Given the description of an element on the screen output the (x, y) to click on. 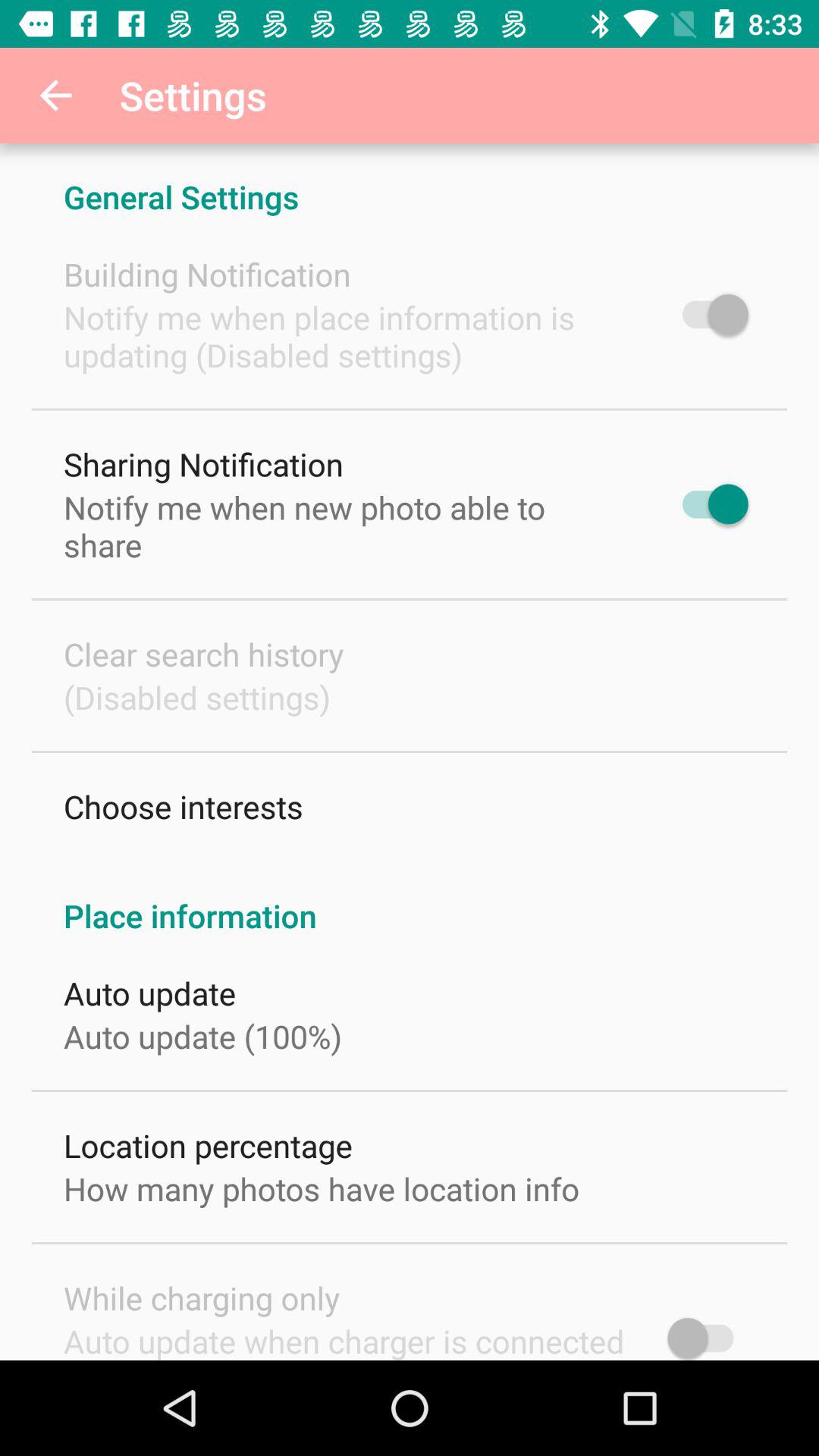
flip until location percentage item (207, 1145)
